Given the description of an element on the screen output the (x, y) to click on. 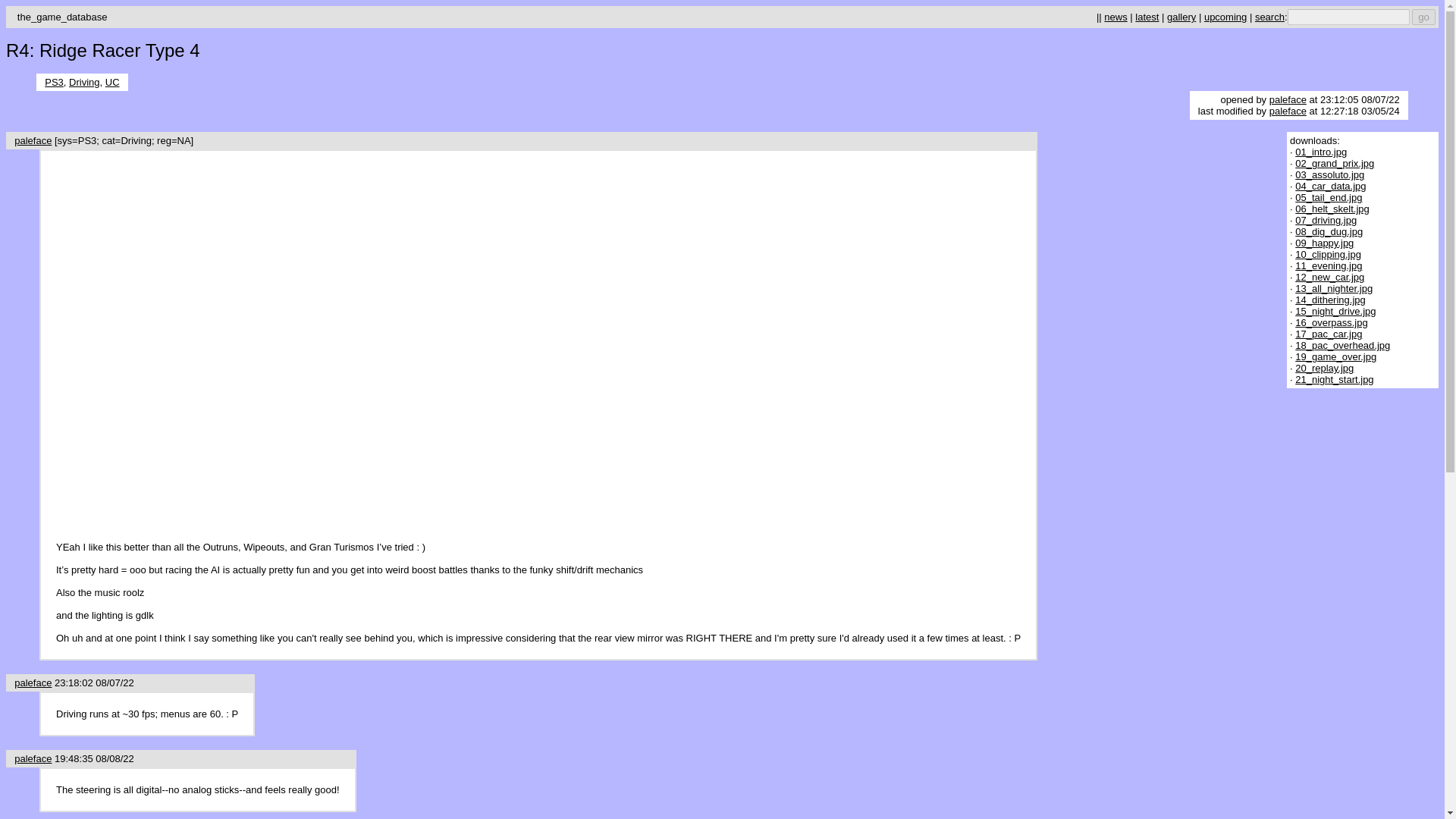
search (1269, 16)
go (1423, 17)
news (1114, 16)
UC (111, 81)
paleface (32, 758)
paleface (32, 140)
Driving (83, 81)
paleface (32, 682)
go (1423, 17)
